Given the description of an element on the screen output the (x, y) to click on. 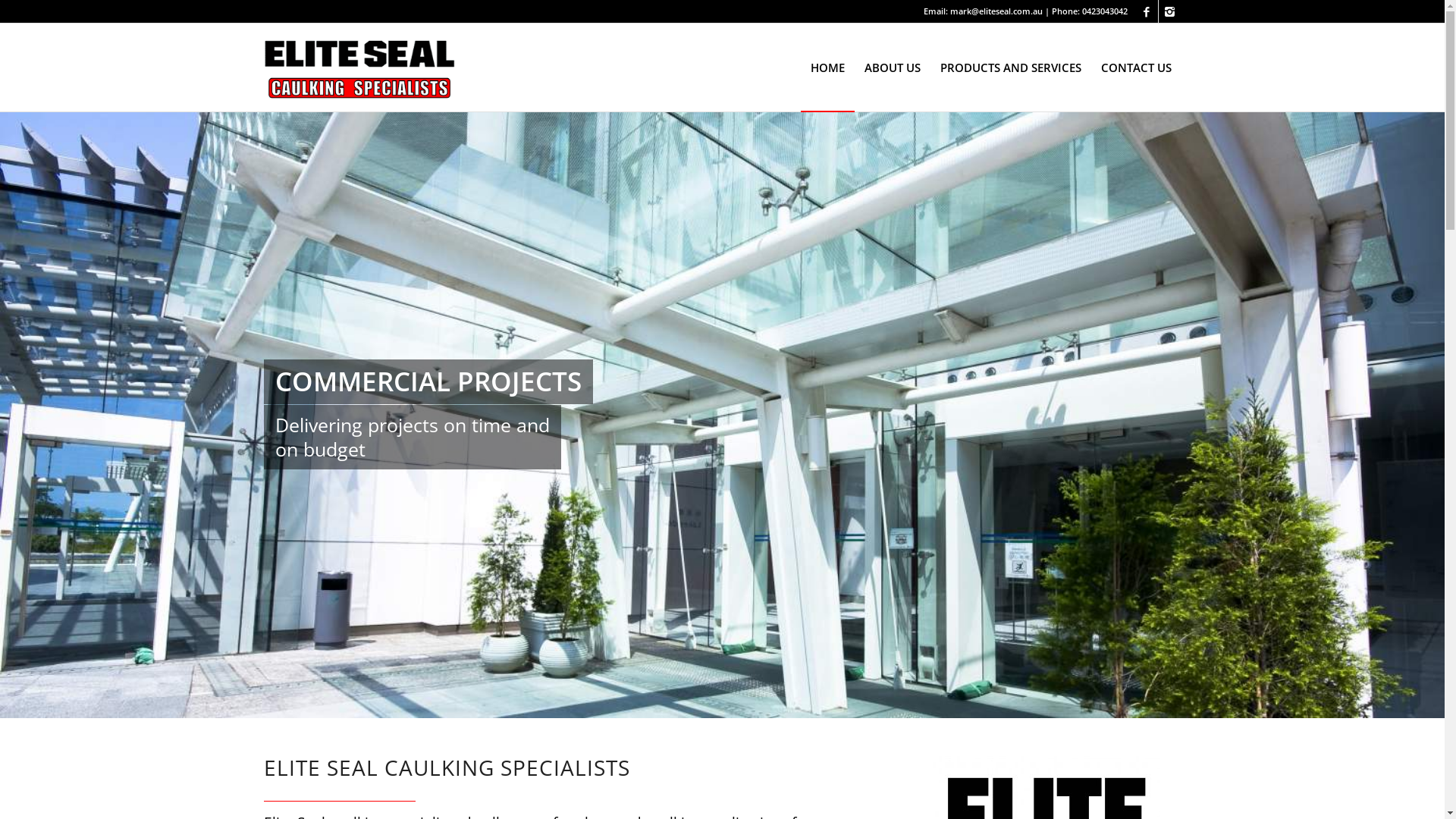
entrance of modern office building Element type: hover (722, 414)
ABOUT US Element type: text (891, 67)
CONTACT US Element type: text (1135, 67)
Instagram Element type: hover (1169, 11)
PRODUCTS AND SERVICES Element type: text (1009, 67)
HOME Element type: text (827, 67)
Facebook Element type: hover (1146, 11)
